Given the description of an element on the screen output the (x, y) to click on. 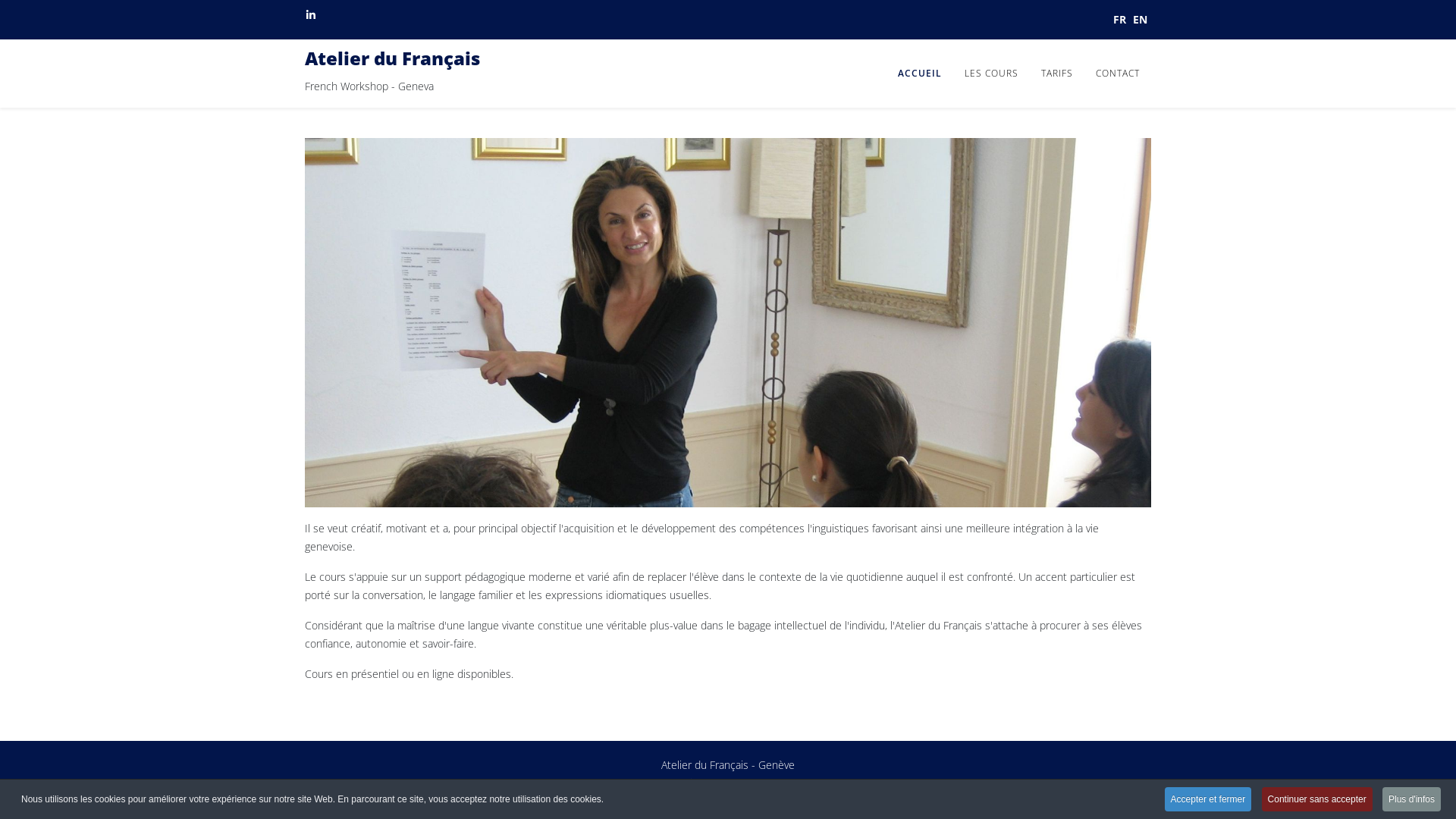
EN Element type: text (1139, 19)
Plus d'infos Element type: text (1411, 799)
Continuer sans accepter Element type: text (1316, 799)
Accepter et fermer Element type: text (1208, 799)
CONTACT Element type: text (1117, 73)
FR Element type: text (1119, 19)
TARIFS Element type: text (1056, 73)
ACCUEIL Element type: text (919, 73)
LES COURS Element type: text (991, 73)
